Given the description of an element on the screen output the (x, y) to click on. 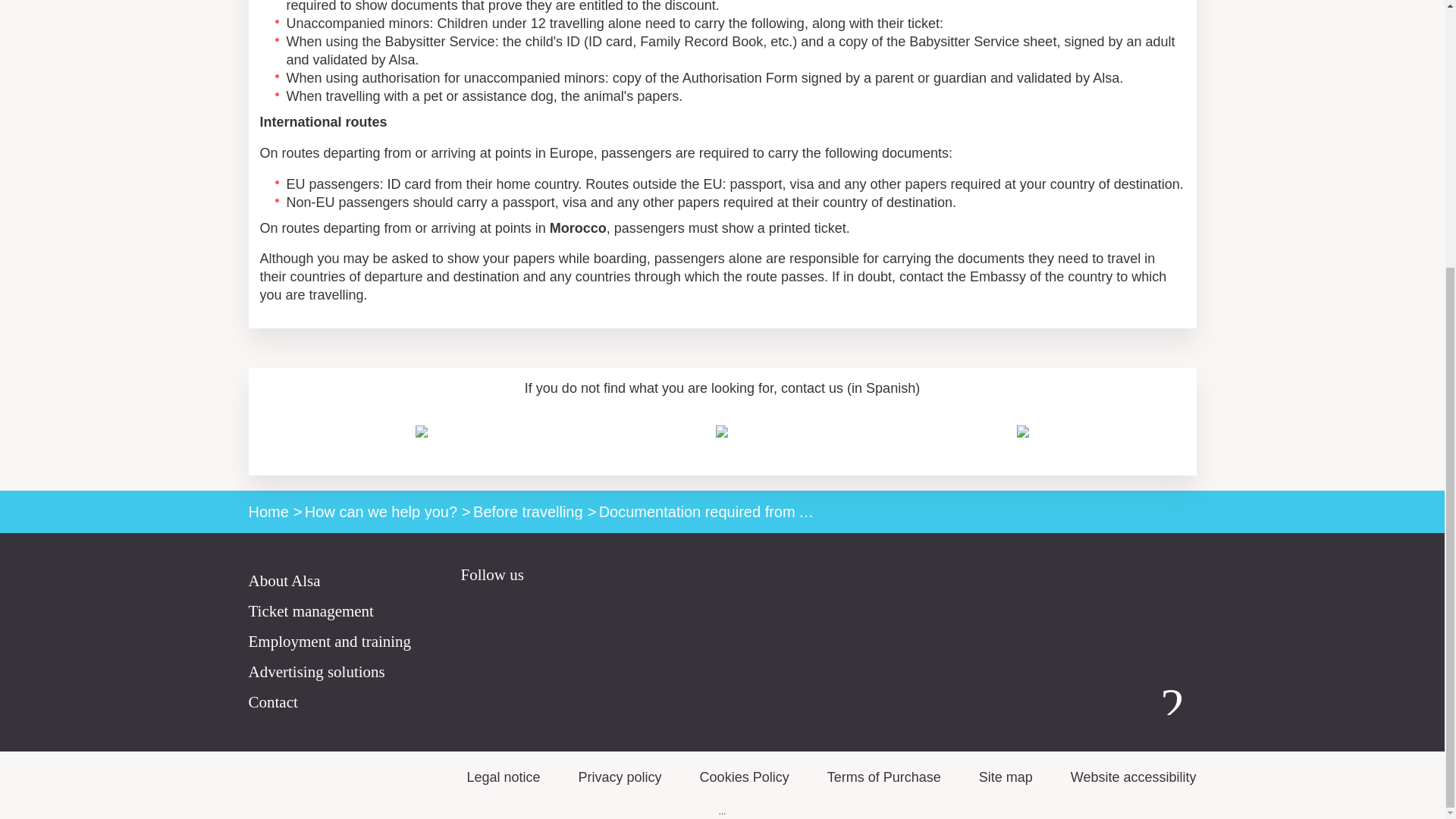
Share (1184, 355)
Before travelling (528, 511)
How can we  help you? (380, 511)
Home (268, 511)
Logo Alsa, ir a inicio (1172, 700)
